Given the description of an element on the screen output the (x, y) to click on. 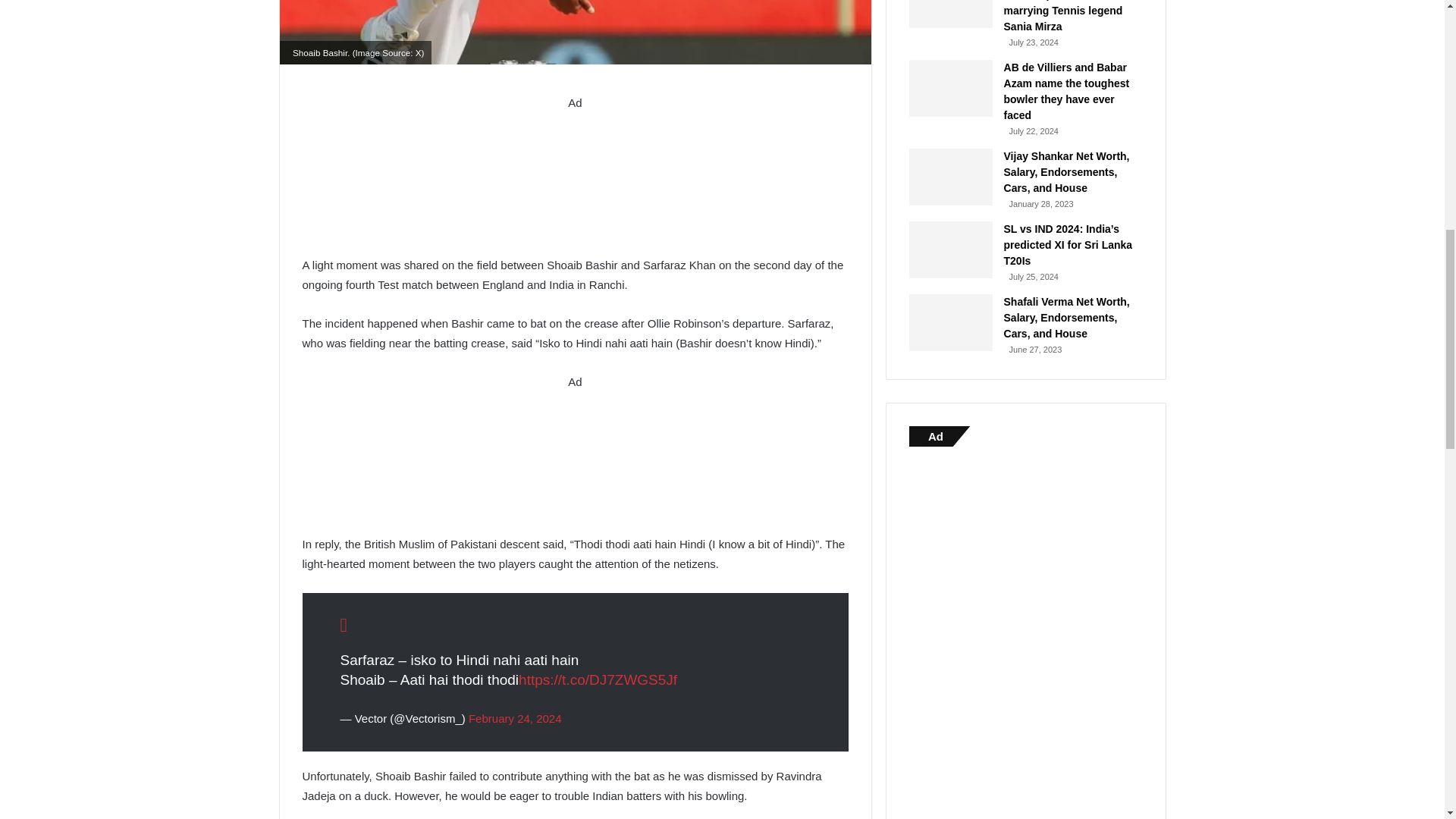
February 24, 2024 (515, 717)
Advertisement (1024, 640)
Advertisement (574, 460)
Advertisement (574, 181)
